Given the description of an element on the screen output the (x, y) to click on. 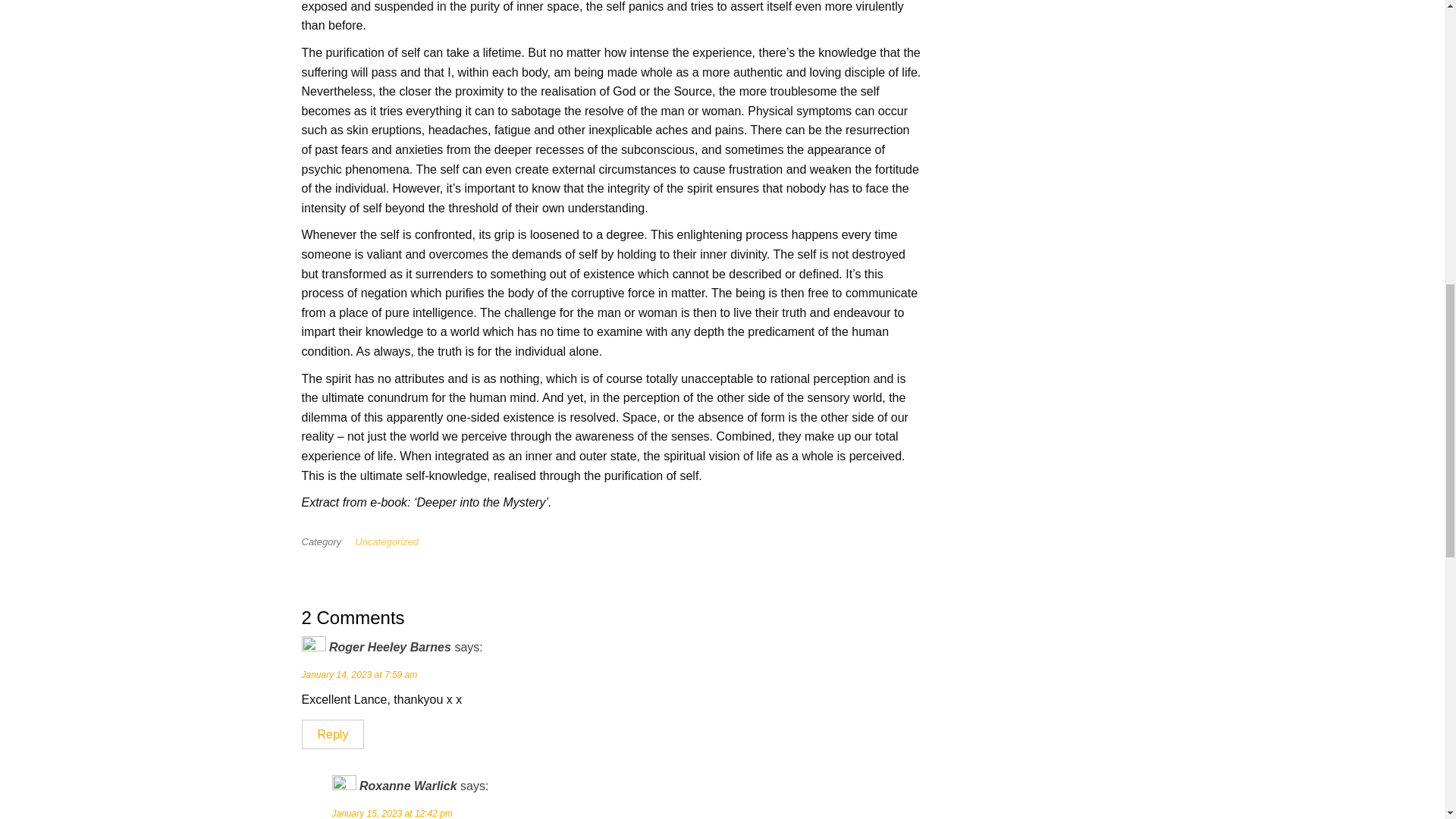
January 14, 2023 at 7:59 am (359, 674)
Reply (333, 734)
January 15, 2023 at 12:42 pm (391, 813)
Uncategorized (390, 541)
